Given the description of an element on the screen output the (x, y) to click on. 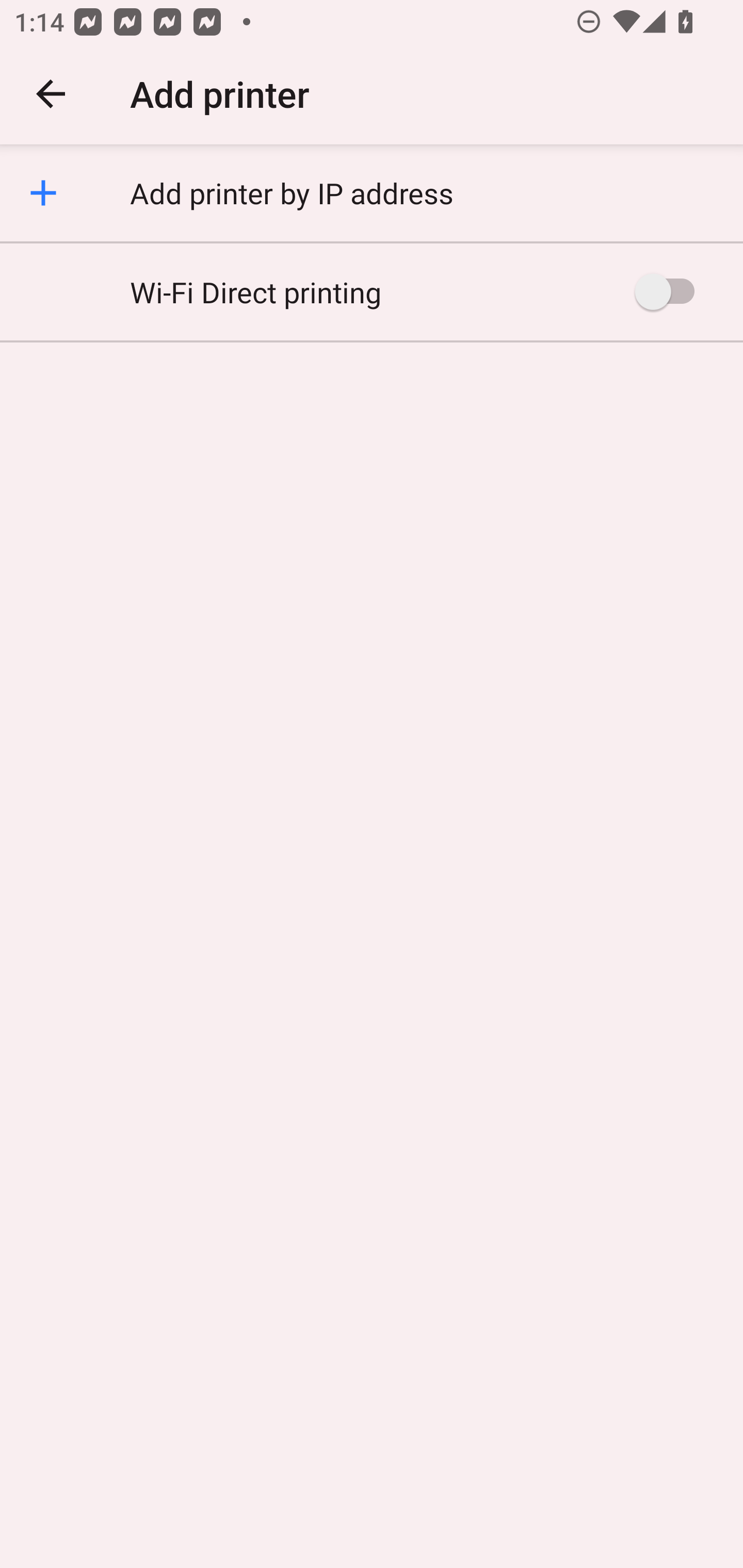
Navigate up (50, 93)
Add printer by IP address (371, 192)
Wi-Fi Direct printing (371, 291)
